Given the description of an element on the screen output the (x, y) to click on. 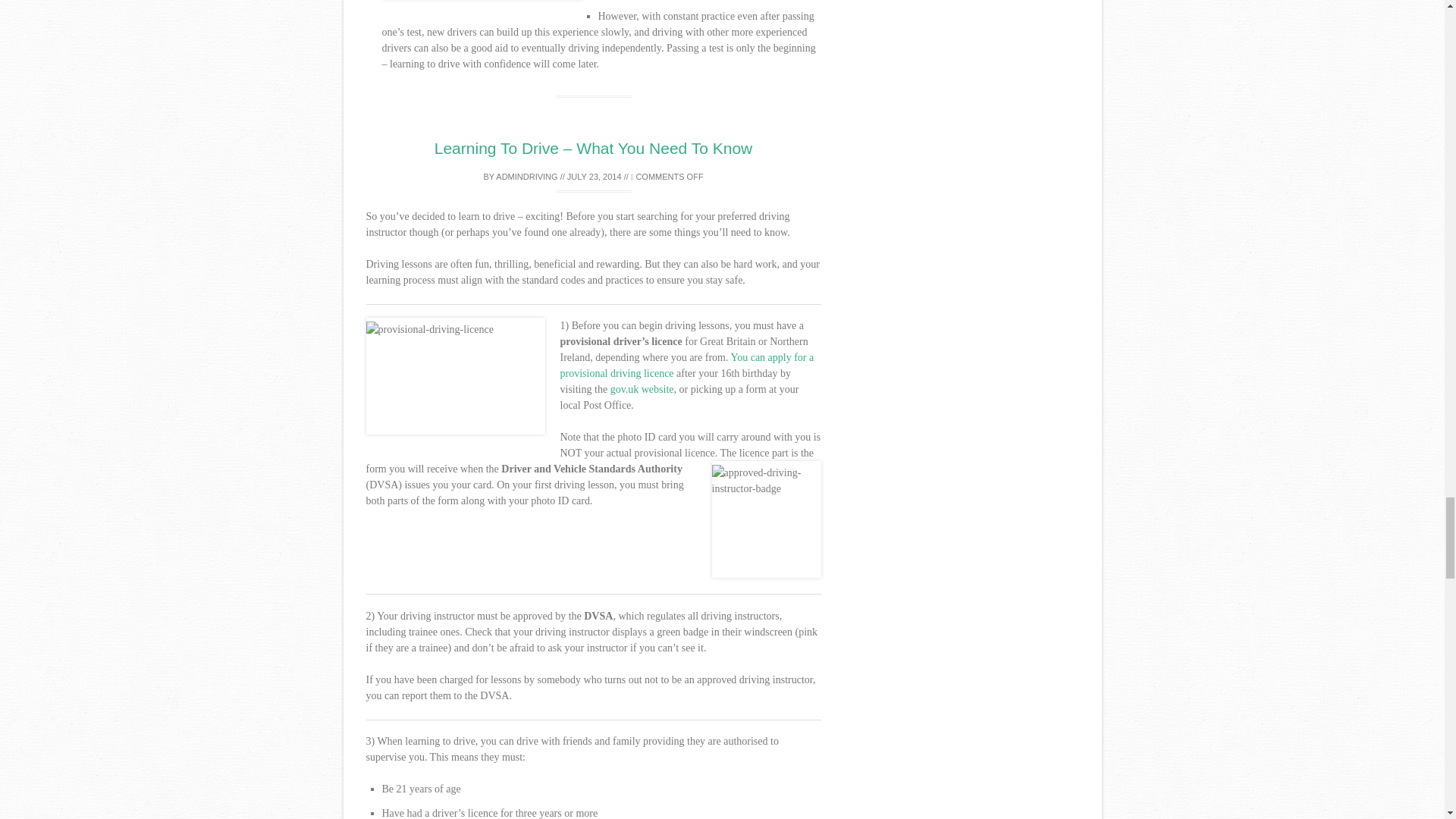
JULY 23, 2014 (594, 175)
Apply for Provisional Licence (642, 389)
gov.uk website (642, 389)
View all posts by admindriving (526, 175)
3:40 pm (594, 175)
You can apply for a provisional driving licence (686, 365)
COMMENTS OFF (666, 175)
ADMINDRIVING (526, 175)
